Given the description of an element on the screen output the (x, y) to click on. 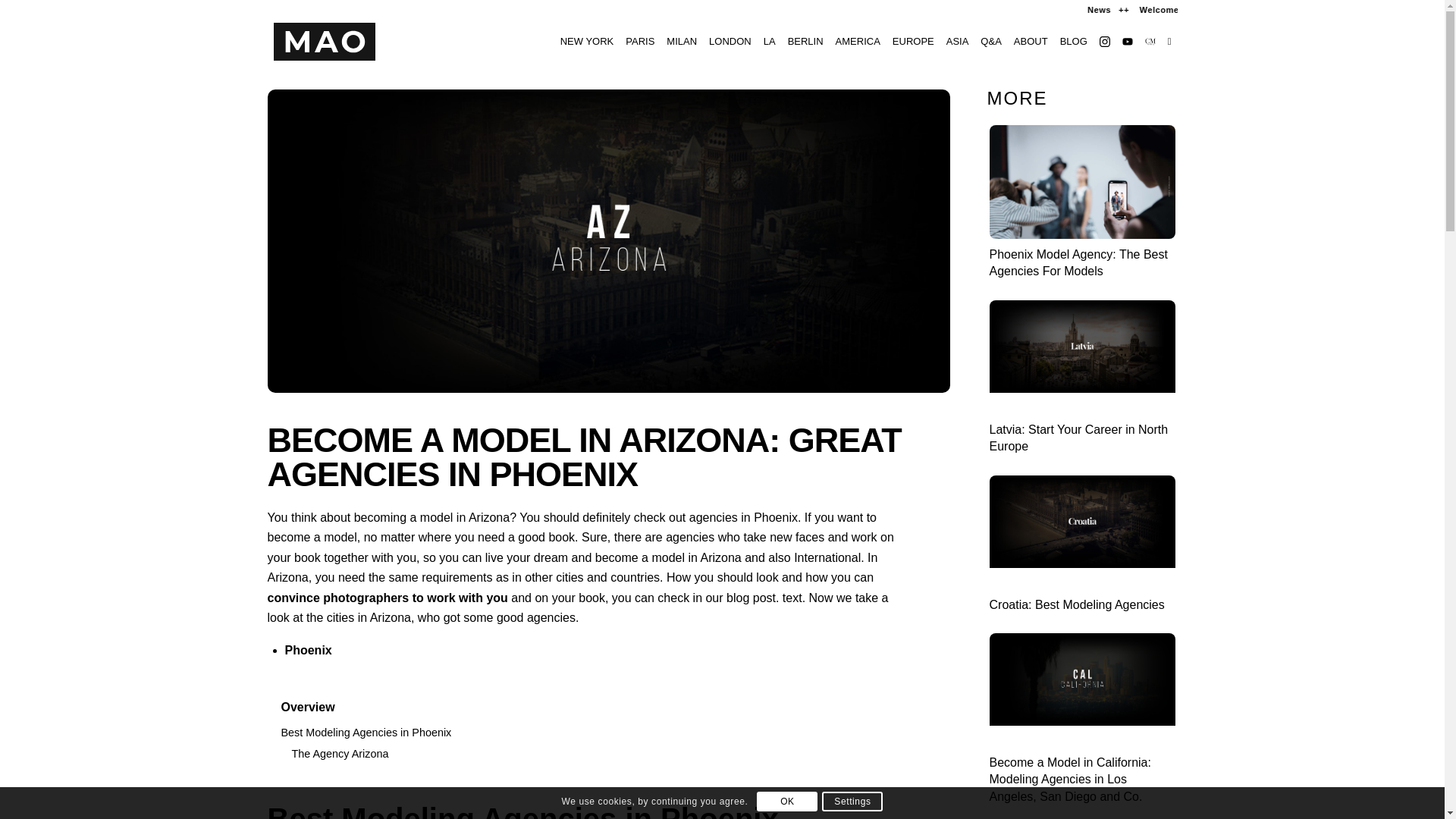
MILAN (682, 41)
London Model Agency (730, 41)
LA (769, 41)
New York Model Agency (587, 41)
Los Angeles Model Agency (769, 41)
News (1200, 9)
PARIS (640, 41)
Paris (640, 41)
BERLIN (805, 41)
Berlin Model Agency (805, 41)
AMERICA (857, 41)
EUROPE (913, 41)
Milan Model Agency (682, 41)
NEW YORK (587, 41)
LONDON (730, 41)
